Given the description of an element on the screen output the (x, y) to click on. 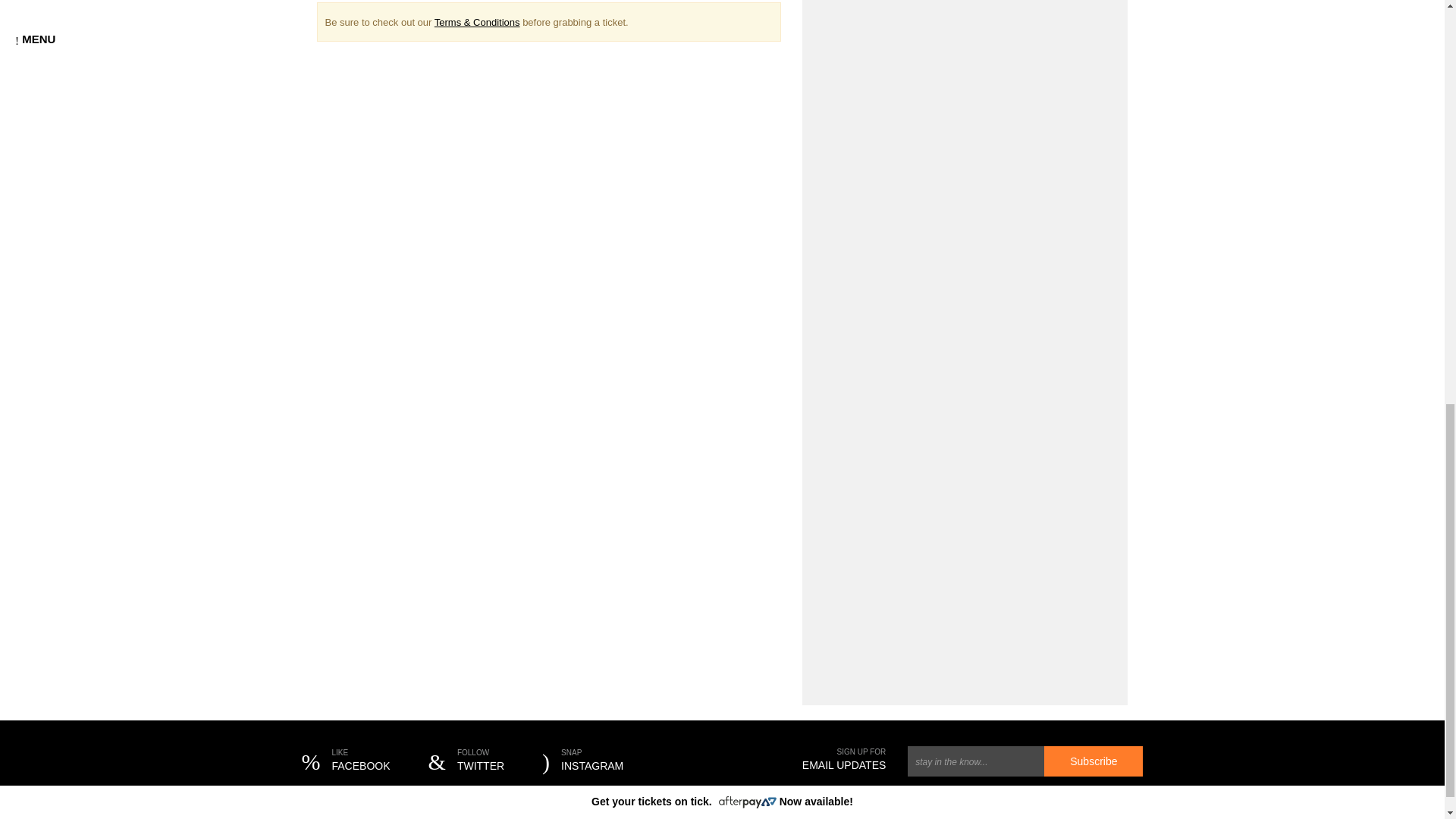
Subscribe (345, 761)
Subscribe (466, 761)
